Given the description of an element on the screen output the (x, y) to click on. 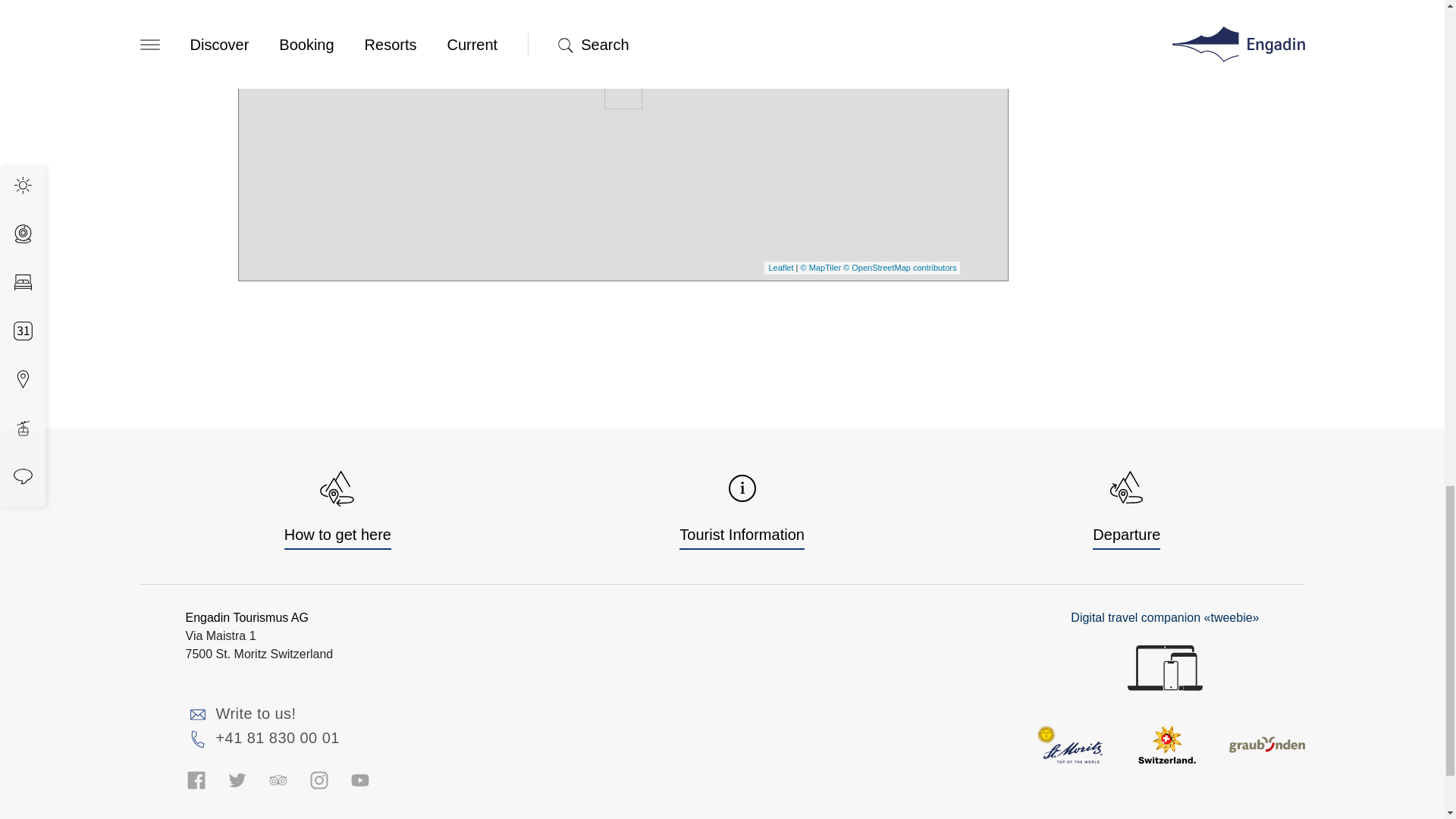
St. Moritz (1068, 744)
Schweiz Tourismus (1167, 744)
Engadin Mobile App (1164, 668)
A JS library for interactive maps (780, 266)
